Given the description of an element on the screen output the (x, y) to click on. 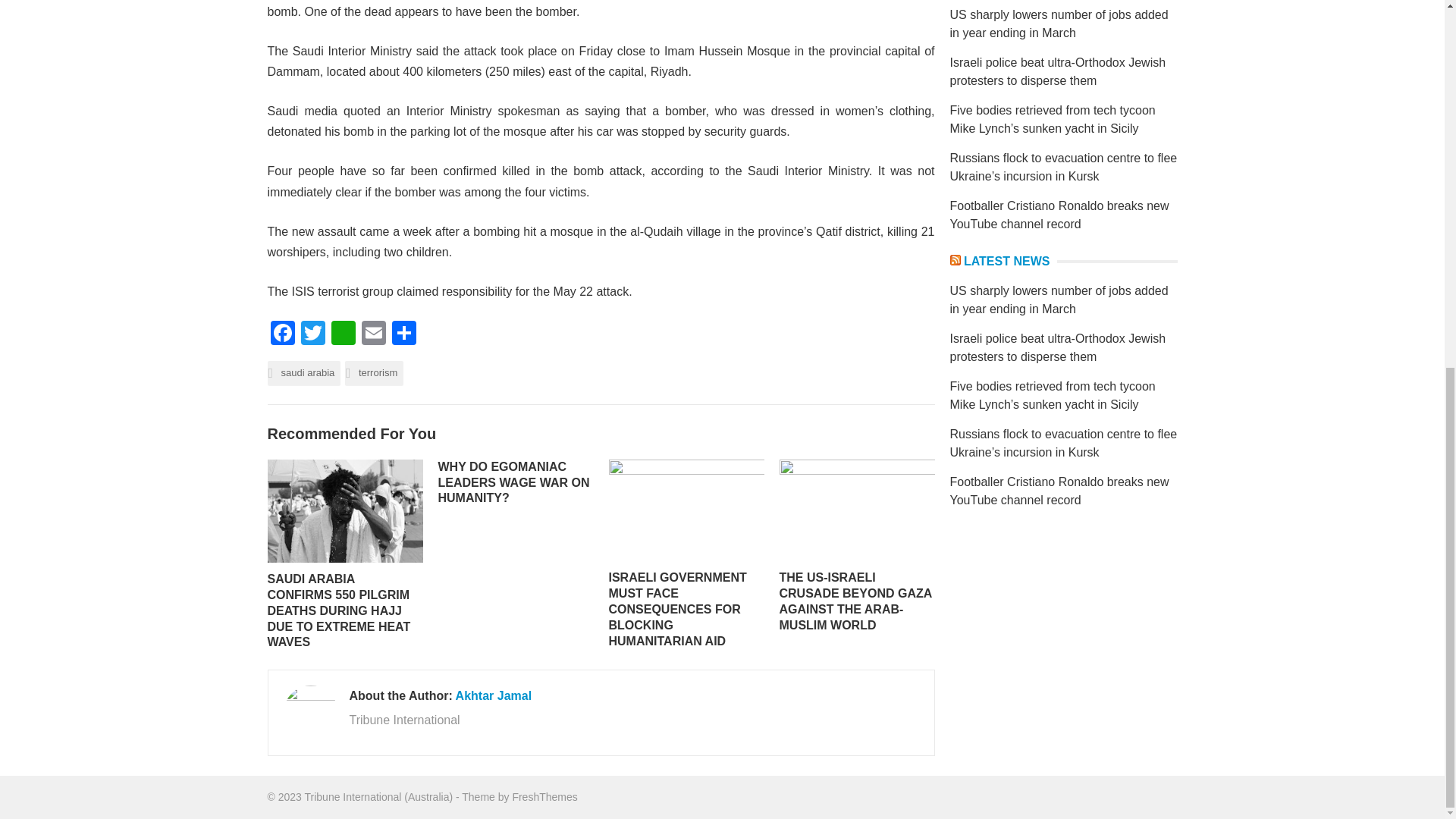
WhatsApp (342, 334)
Twitter (312, 334)
Email (373, 334)
Facebook (281, 334)
WhatsApp (342, 334)
Facebook (281, 334)
Twitter (312, 334)
